Given the description of an element on the screen output the (x, y) to click on. 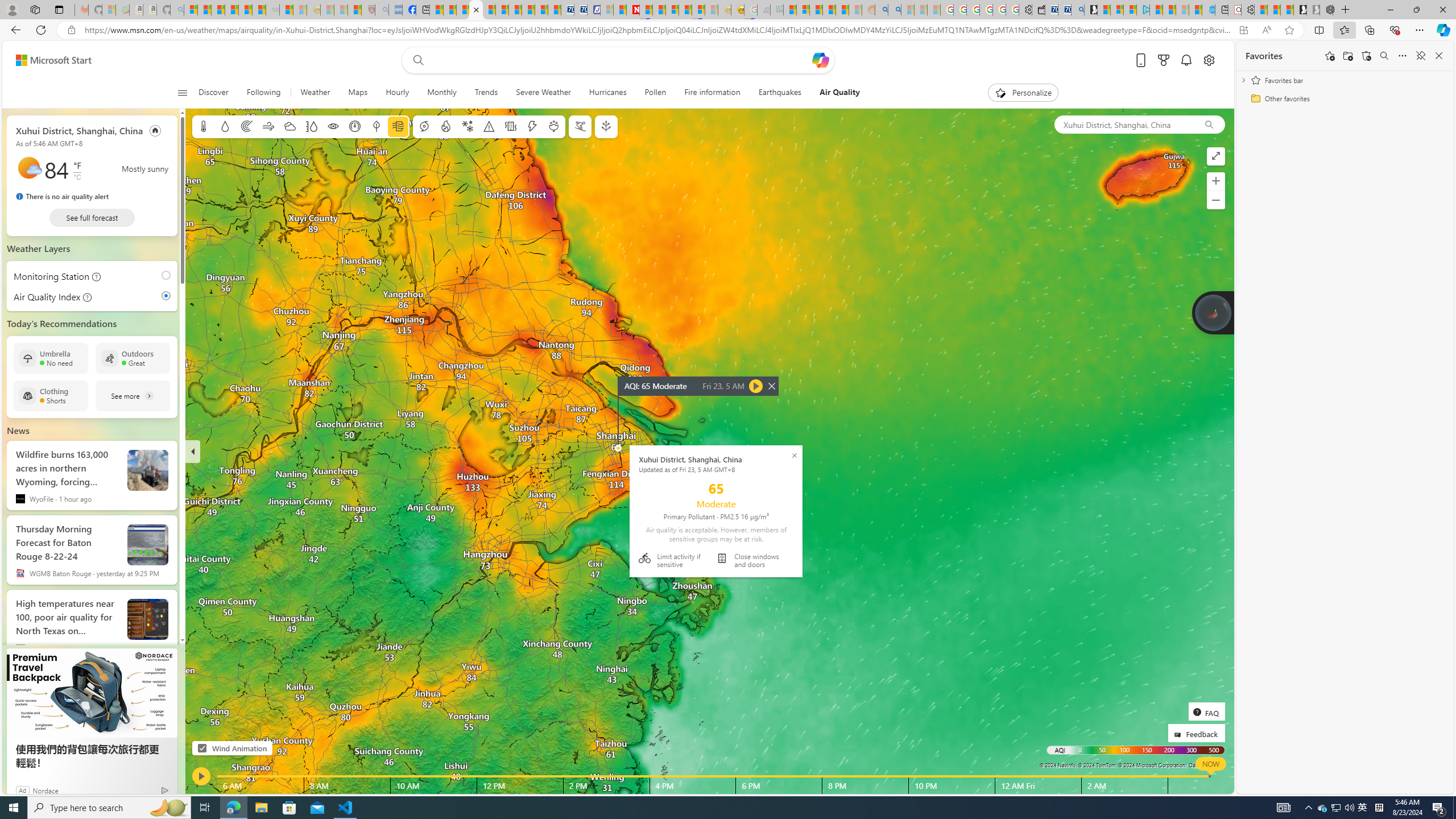
Pollen (655, 92)
Fire information (712, 92)
Hurricanes (607, 92)
App bar (728, 29)
Severe weather (489, 126)
Personalize (1023, 92)
Air Quality Index (43, 296)
Set as primary location (155, 130)
Severe Weather (542, 92)
